Given the description of an element on the screen output the (x, y) to click on. 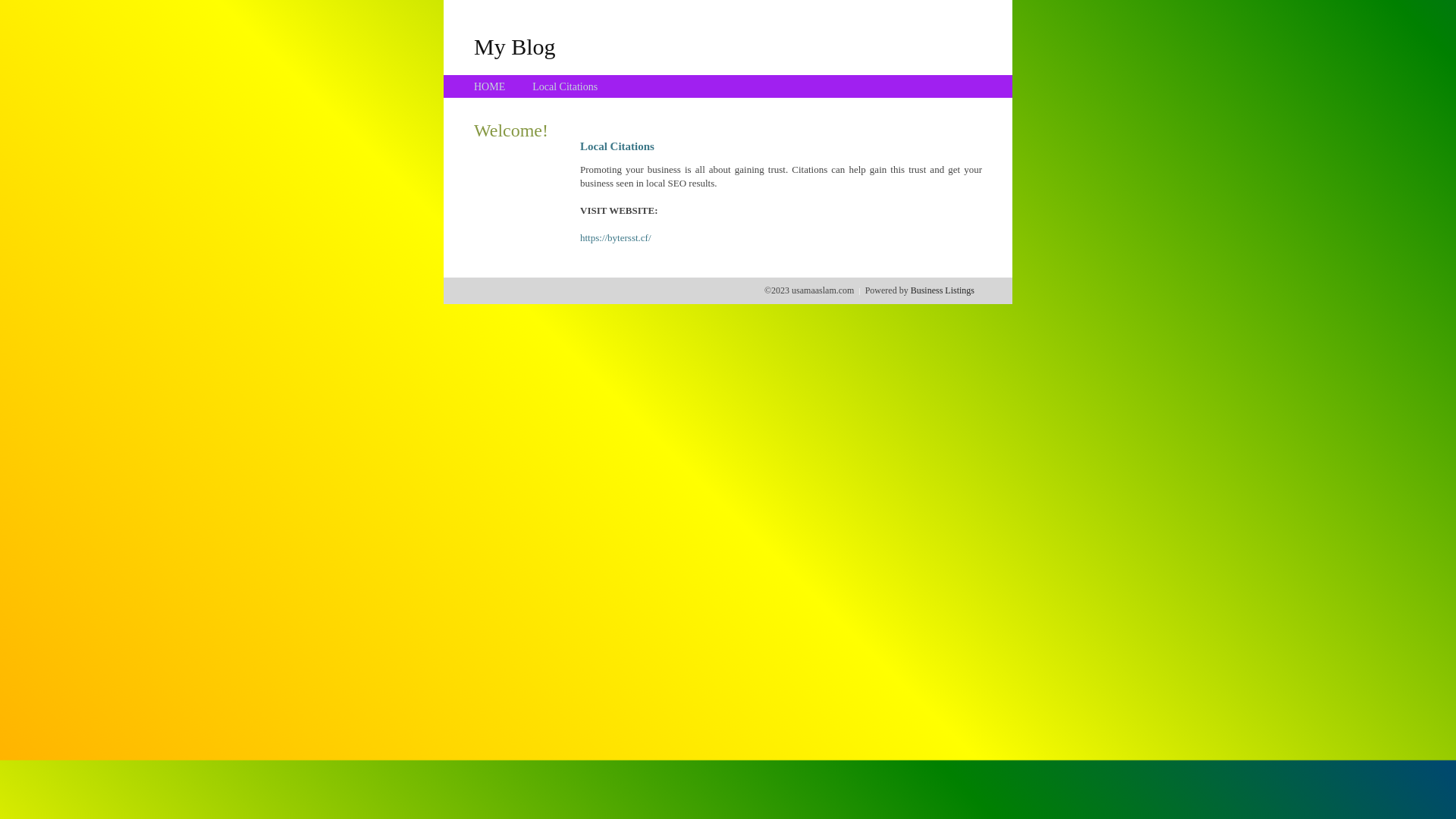
https://bytersst.cf/ Element type: text (615, 237)
My Blog Element type: text (514, 46)
Business Listings Element type: text (942, 290)
Local Citations Element type: text (564, 86)
HOME Element type: text (489, 86)
